Given the description of an element on the screen output the (x, y) to click on. 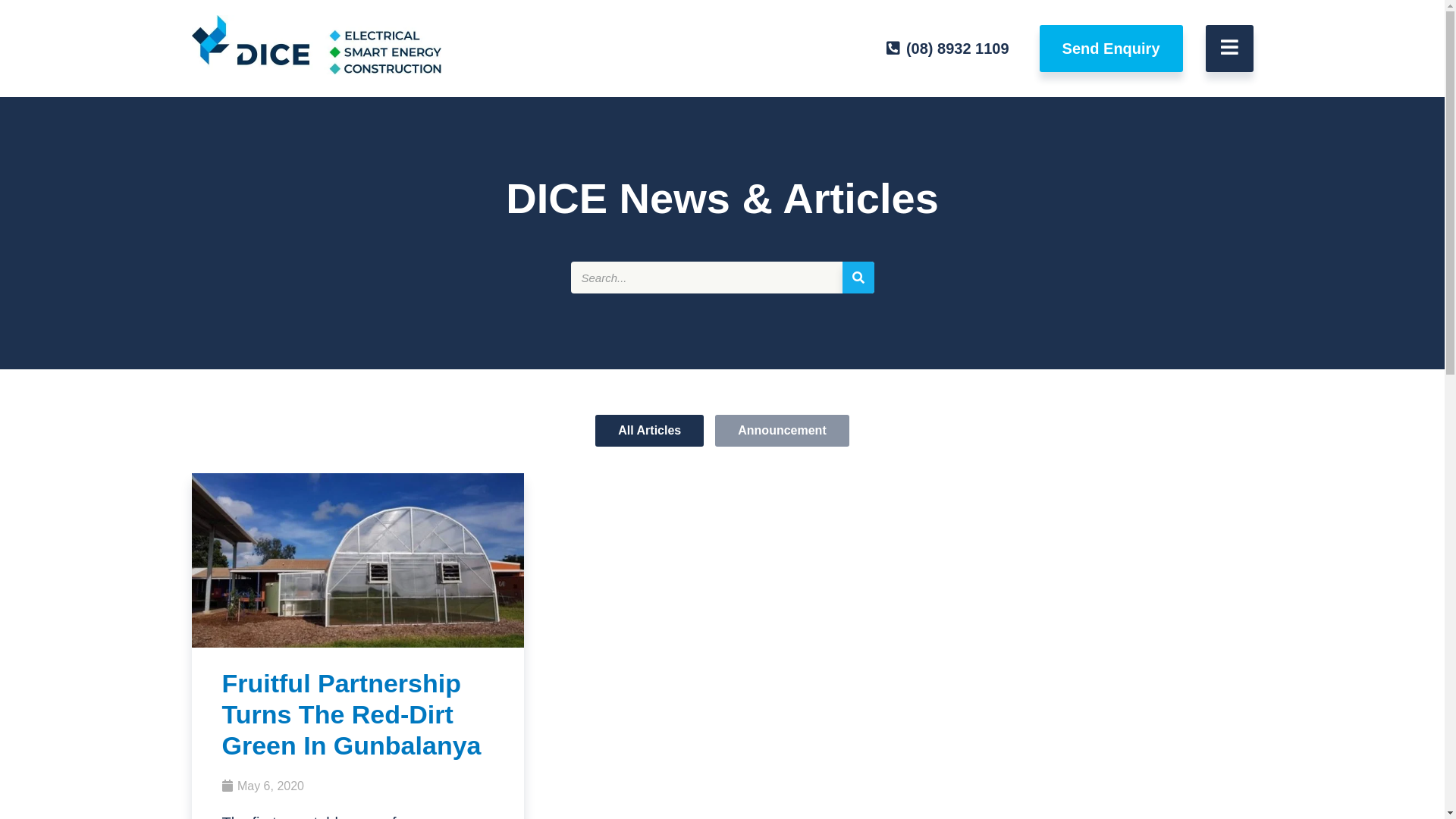
Fruitful Partnership Turns The Red-Dirt Green In Gunbalanya Element type: hover (357, 641)
Fruitful Partnership Turns The Red-Dirt Green In Gunbalanya Element type: text (350, 713)
(08) 8932 1109 Element type: text (947, 48)
Send Enquiry Element type: text (1111, 48)
